Given the description of an element on the screen output the (x, y) to click on. 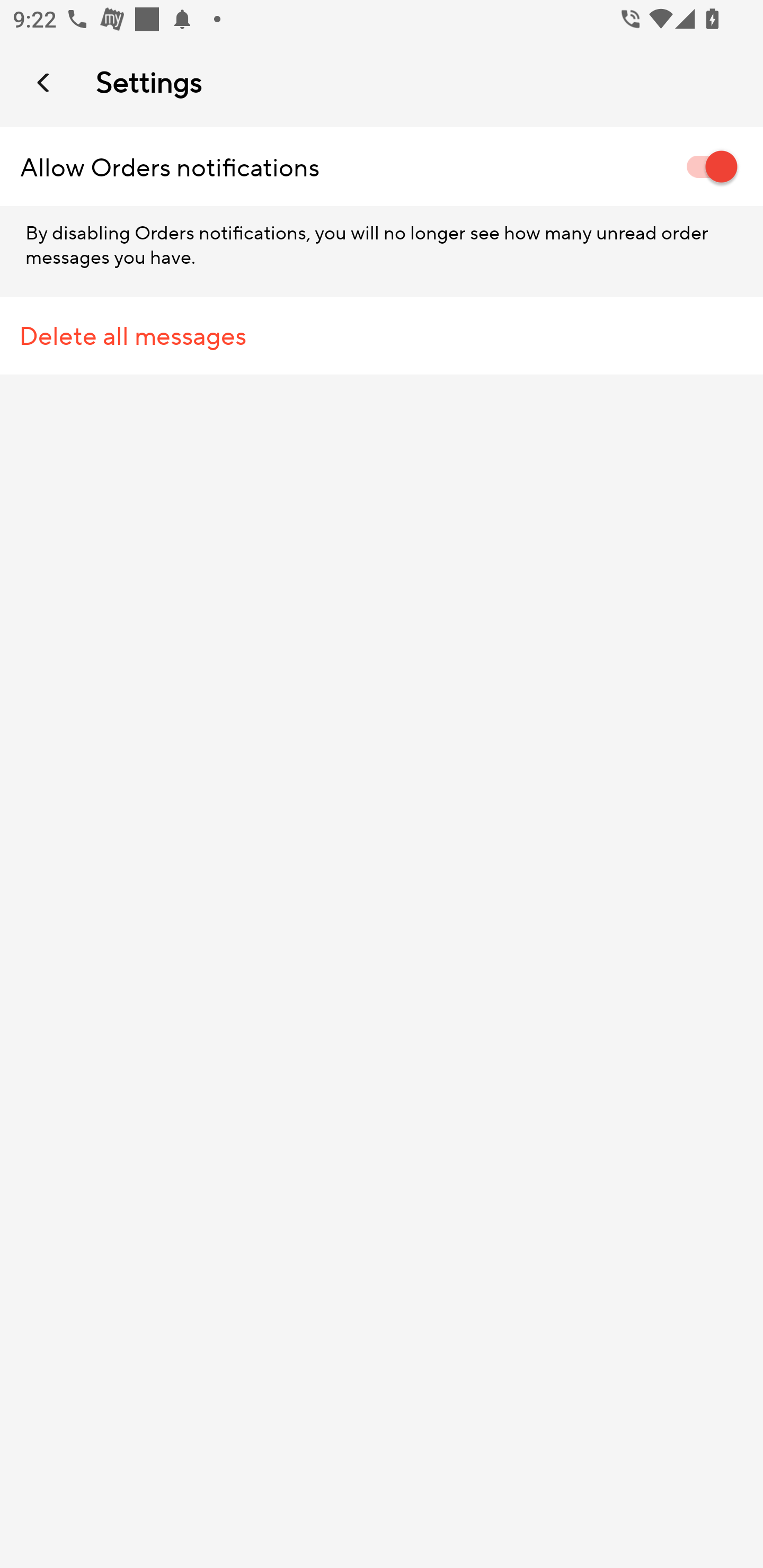
Navigate up (44, 82)
Delete all messages (381, 335)
